Given the description of an element on the screen output the (x, y) to click on. 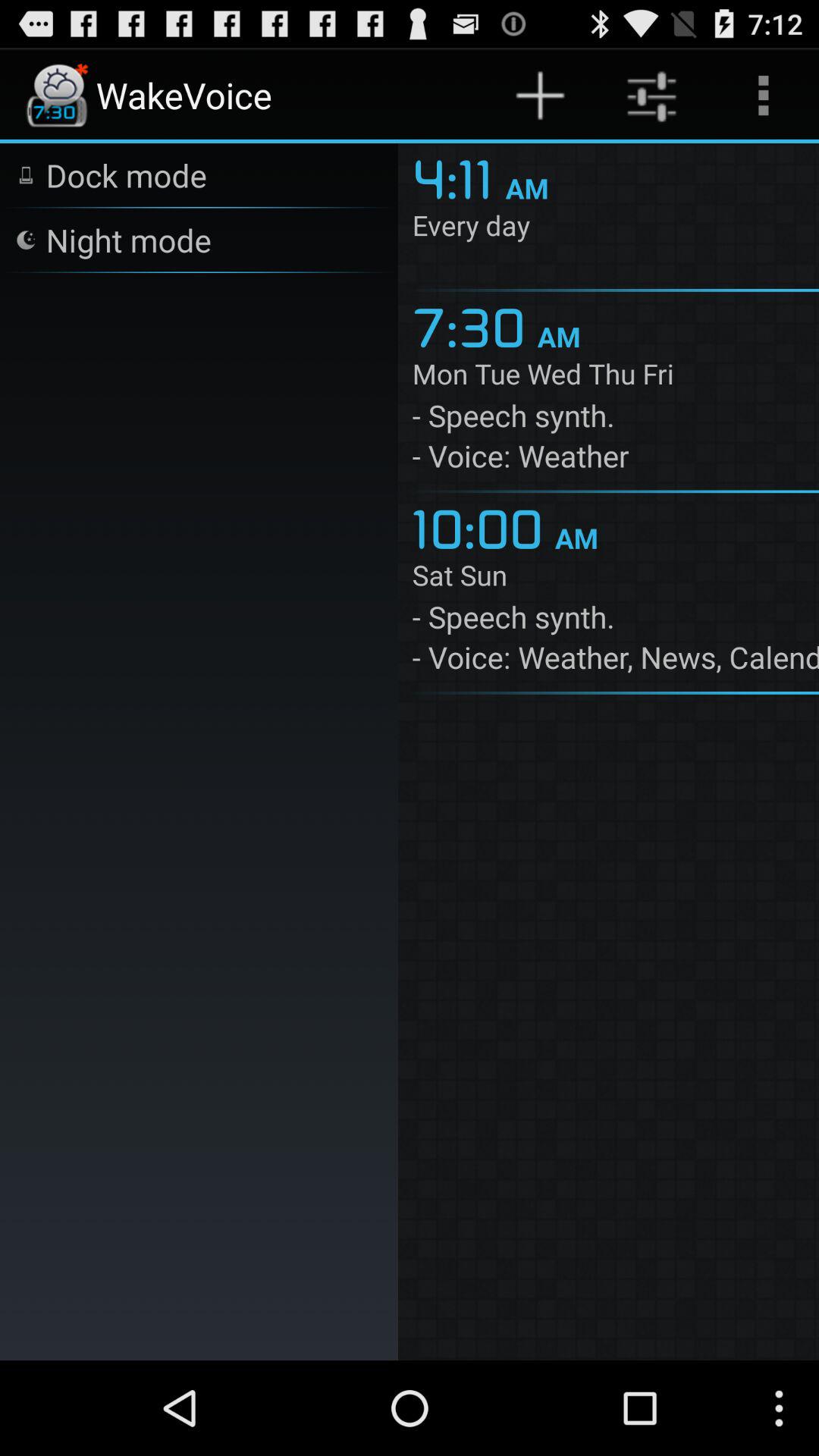
flip until night mode app (128, 239)
